Given the description of an element on the screen output the (x, y) to click on. 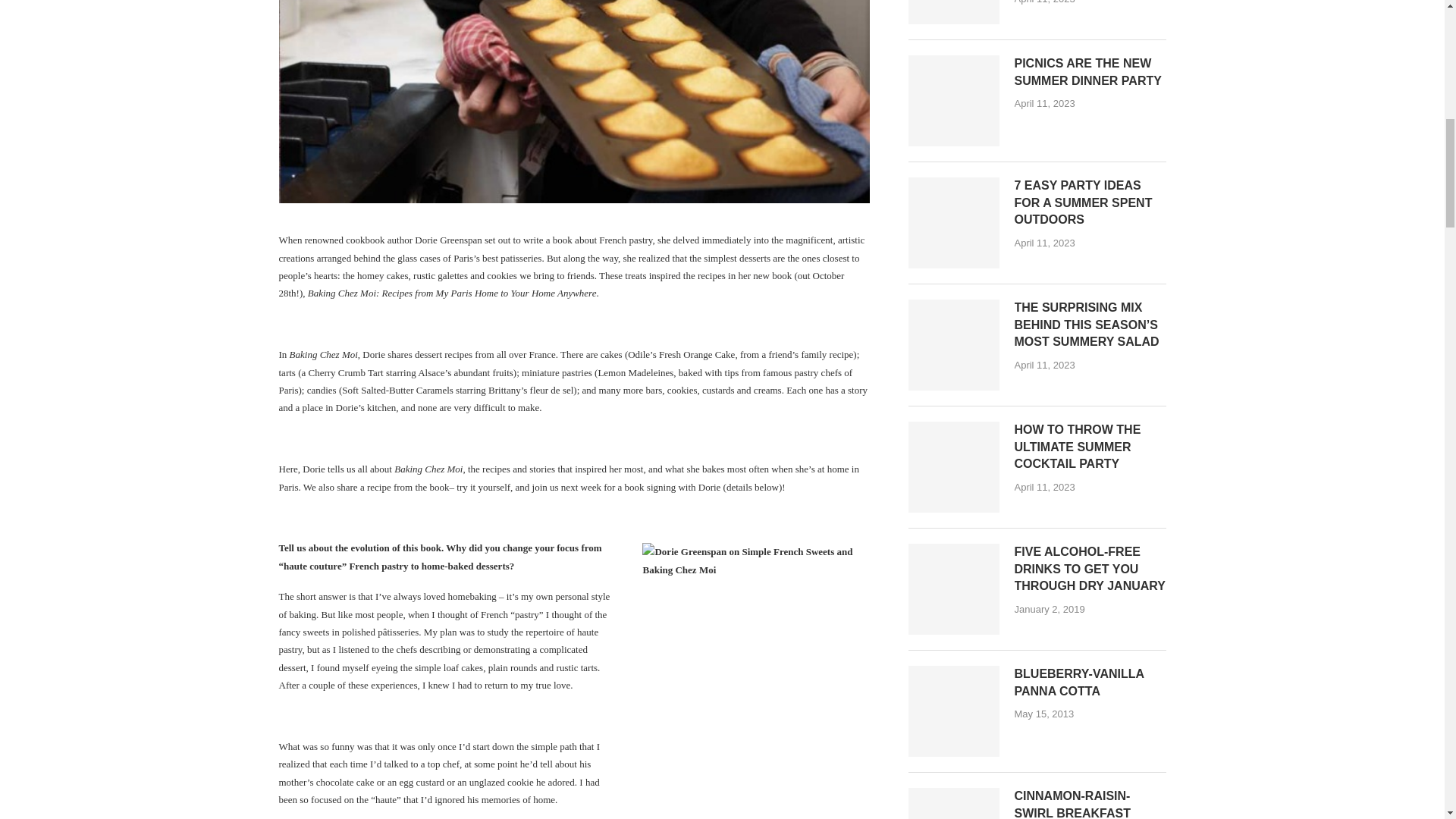
Picnics are the New Summer Dinner Party (1090, 72)
Summer Focaccia Recipes for a Season in Full Swing (953, 12)
Picnics are the New Summer Dinner Party (953, 100)
7 Easy Party Ideas for a Summer Spent Outdoors (1090, 202)
7 Easy Party Ideas for a Summer Spent Outdoors (953, 222)
